Given the description of an element on the screen output the (x, y) to click on. 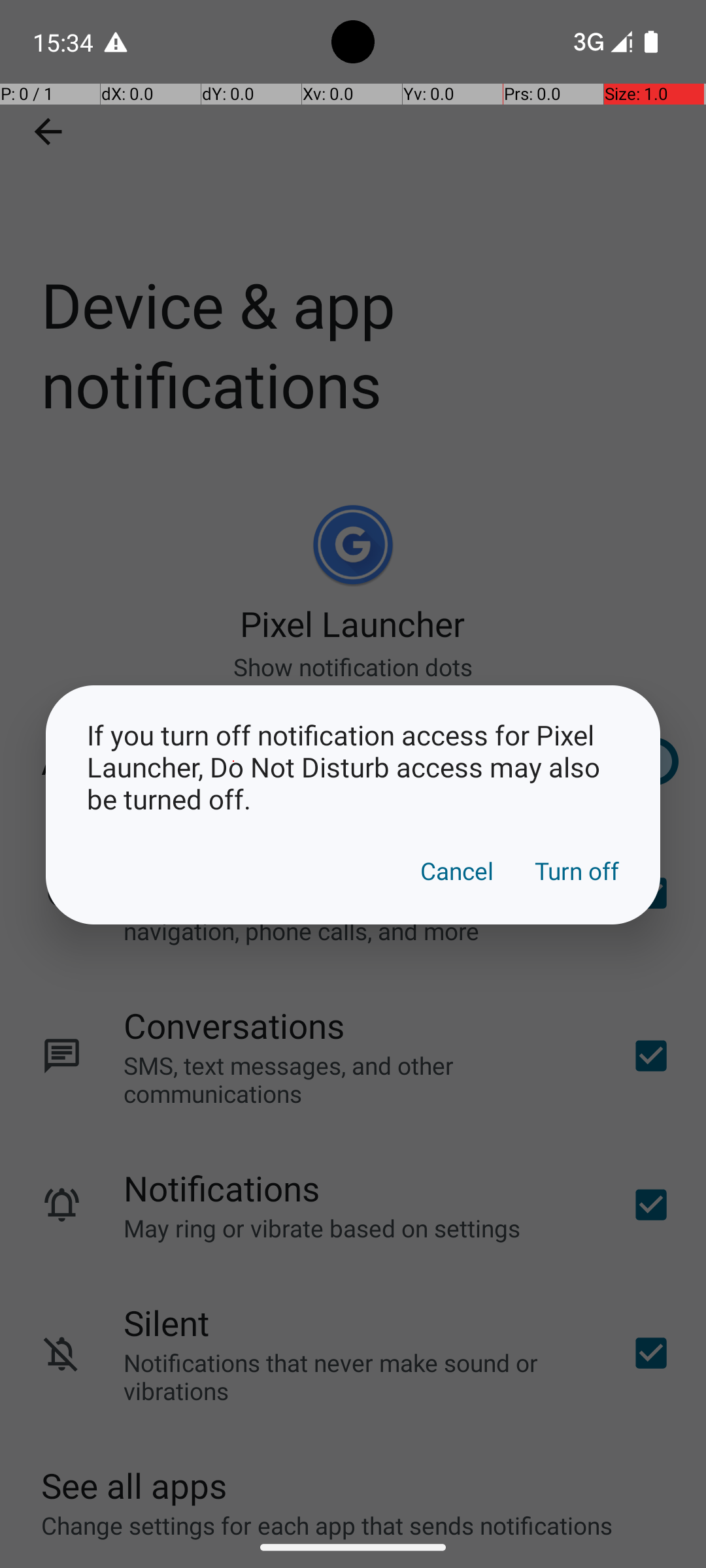
If you turn off notification access for Pixel Launcher, Do Not Disturb access may also be turned off. Element type: android.widget.TextView (352, 766)
Turn off Element type: android.widget.Button (576, 870)
